Given the description of an element on the screen output the (x, y) to click on. 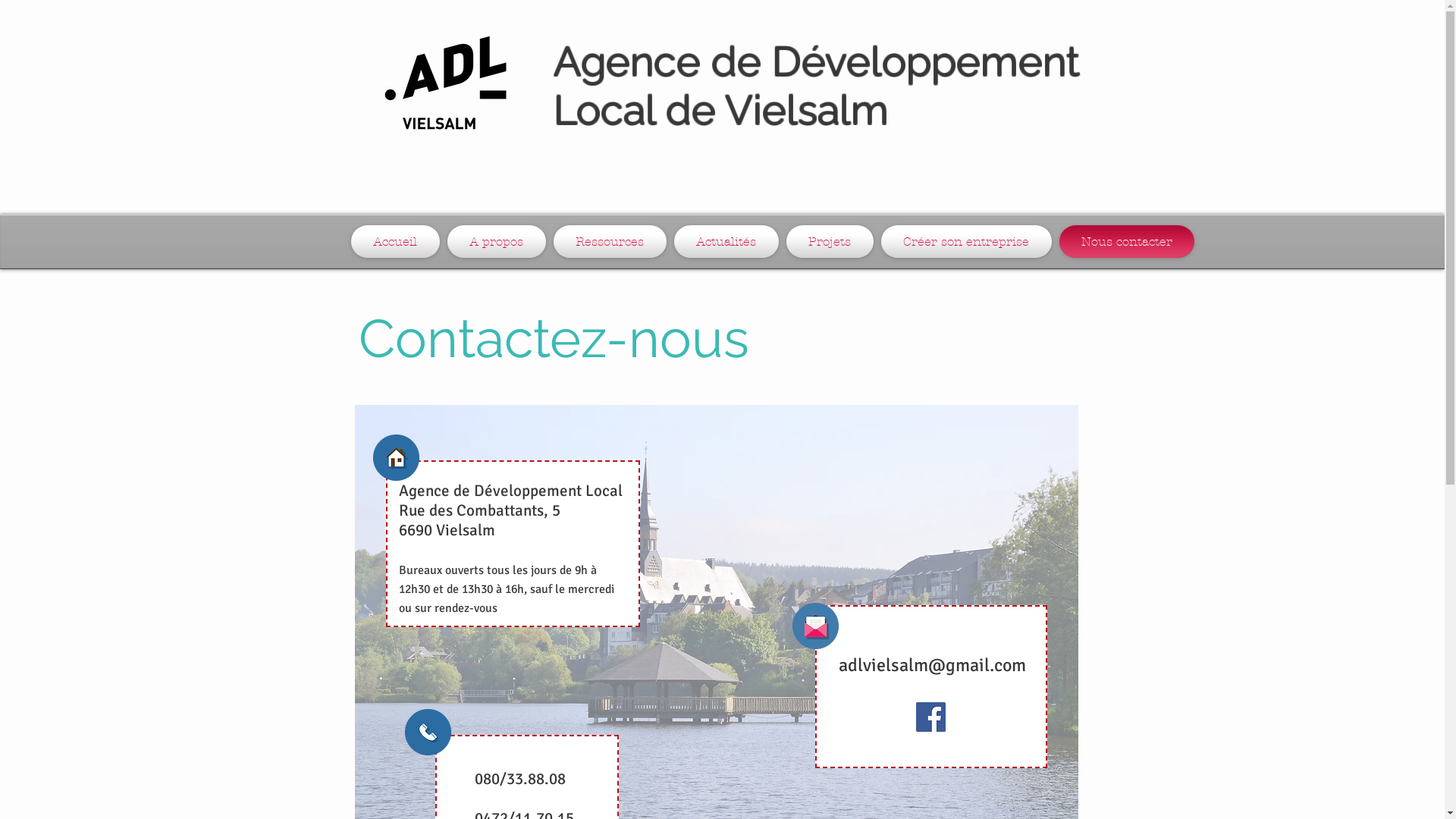
adlvielsalm@gmail.com Element type: text (932, 664)
Accueil Element type: text (396, 241)
A propos Element type: text (495, 241)
Nous contacter Element type: text (1124, 241)
Ressources Element type: text (609, 241)
ADL-vielsalm-cmjn-HD.jpg Element type: hover (444, 82)
Projets Element type: text (829, 241)
